Given the description of an element on the screen output the (x, y) to click on. 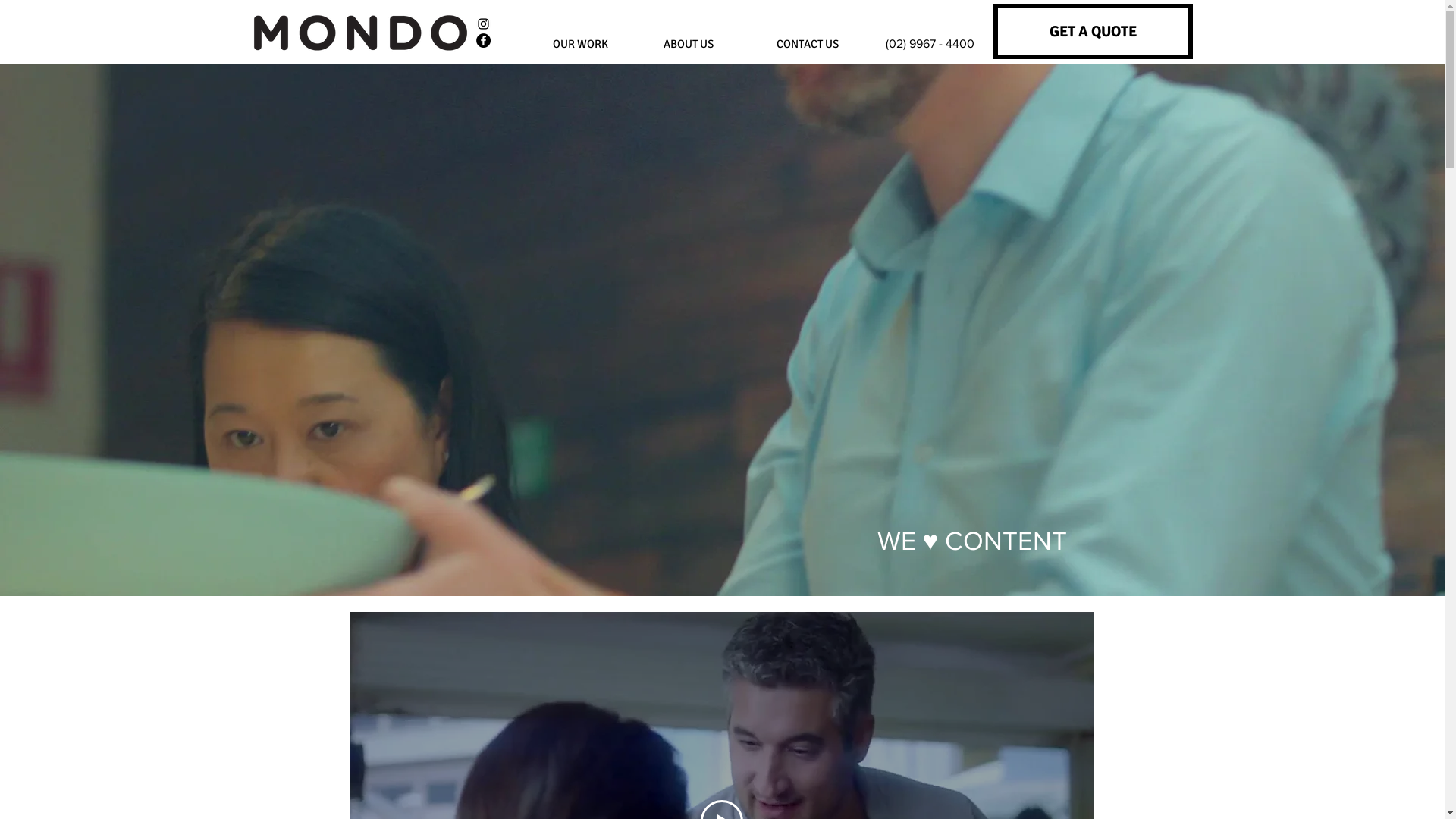
GET A QUOTE Element type: text (1092, 31)
ABOUT US Element type: text (687, 43)
CONTACT US Element type: text (806, 43)
OUR WORK Element type: text (579, 43)
